Given the description of an element on the screen output the (x, y) to click on. 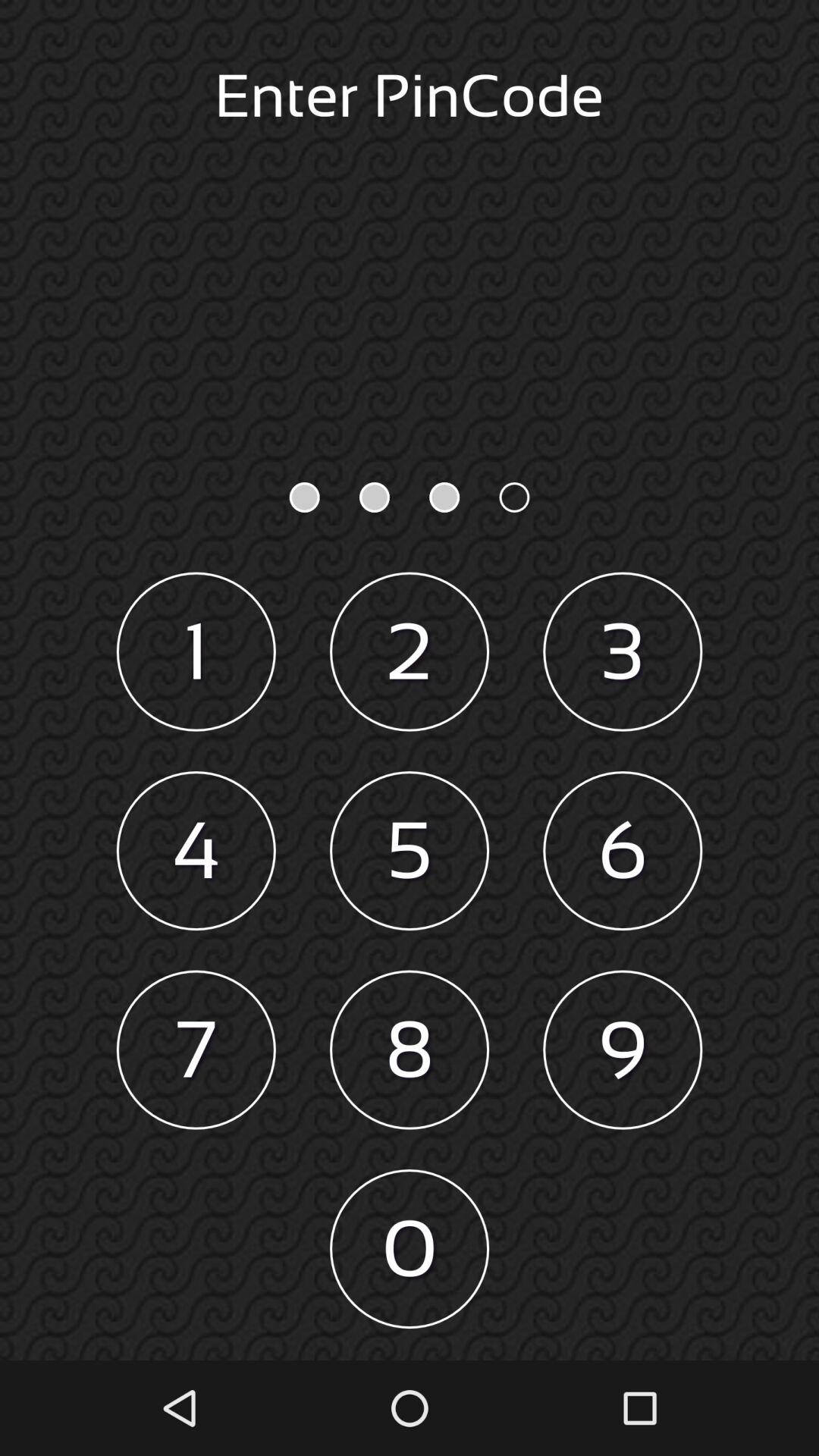
turn on 5 item (409, 850)
